Given the description of an element on the screen output the (x, y) to click on. 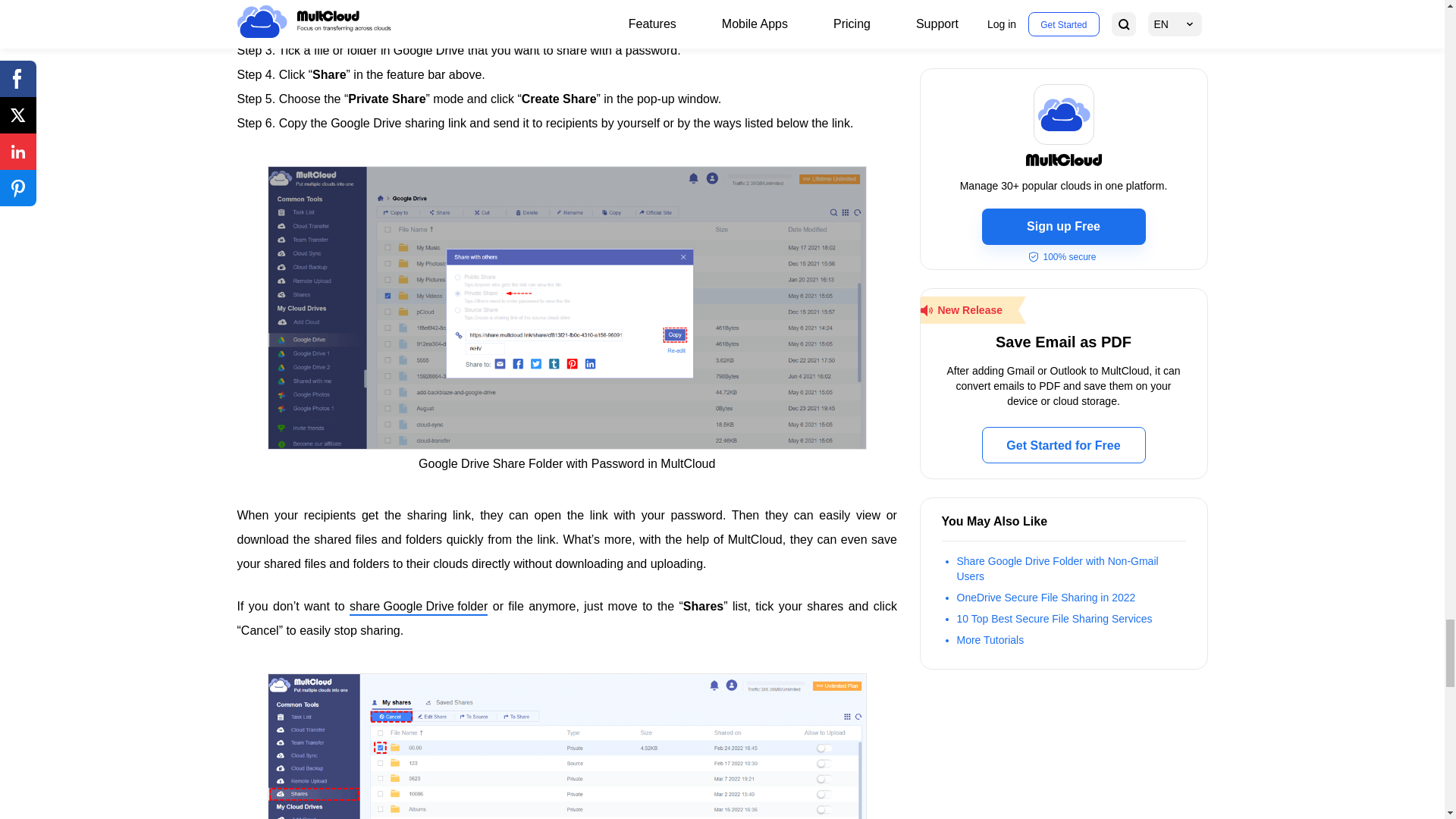
Share Google Drive Folder (418, 606)
share Google Drive folder (418, 606)
